Given the description of an element on the screen output the (x, y) to click on. 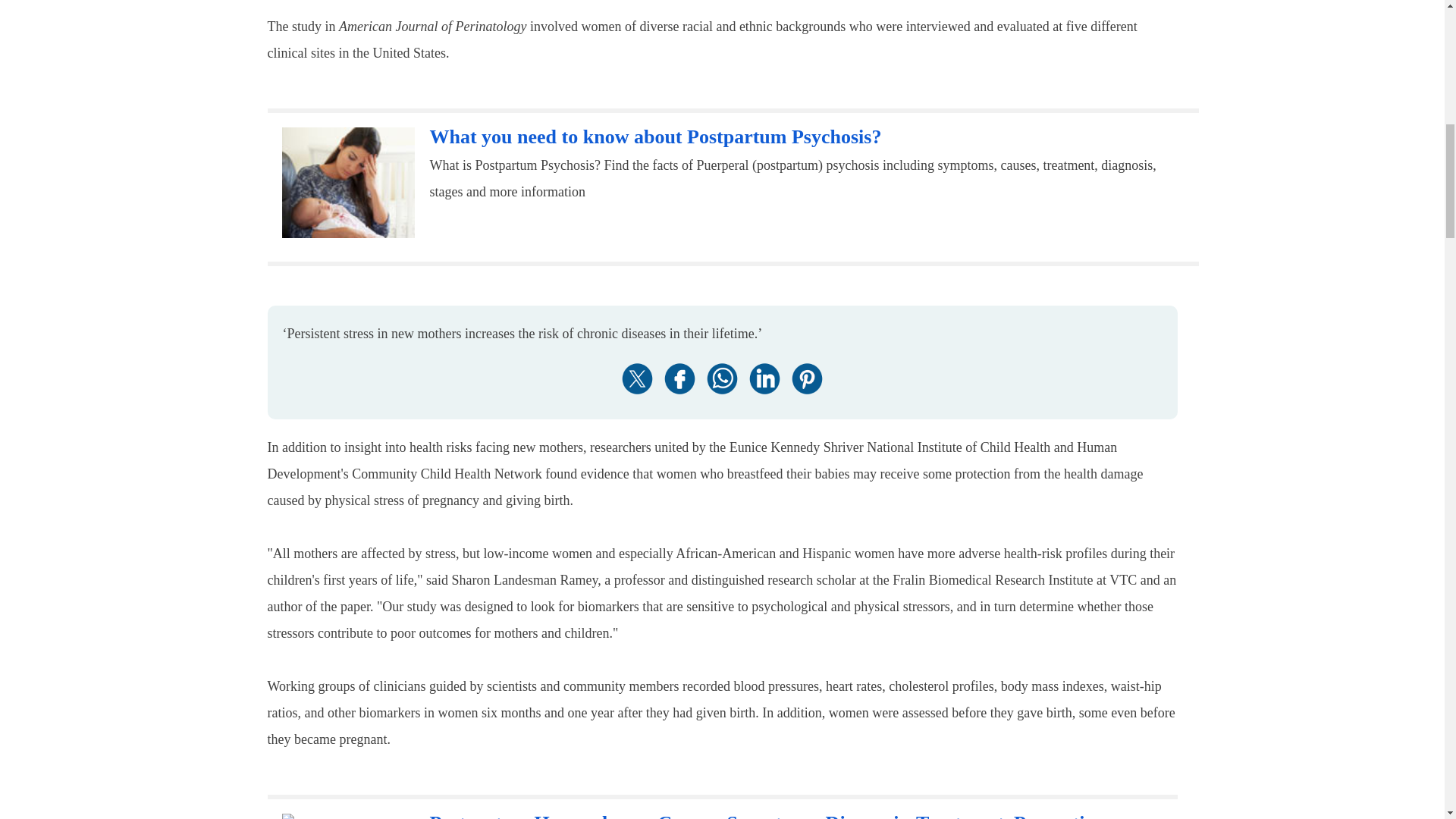
What you need to know about Postpartum Psychosis? (348, 182)
What you need to know about Postpartum Psychosis? (654, 137)
What you need to know about Postpartum Psychosis? (654, 137)
